Given the description of an element on the screen output the (x, y) to click on. 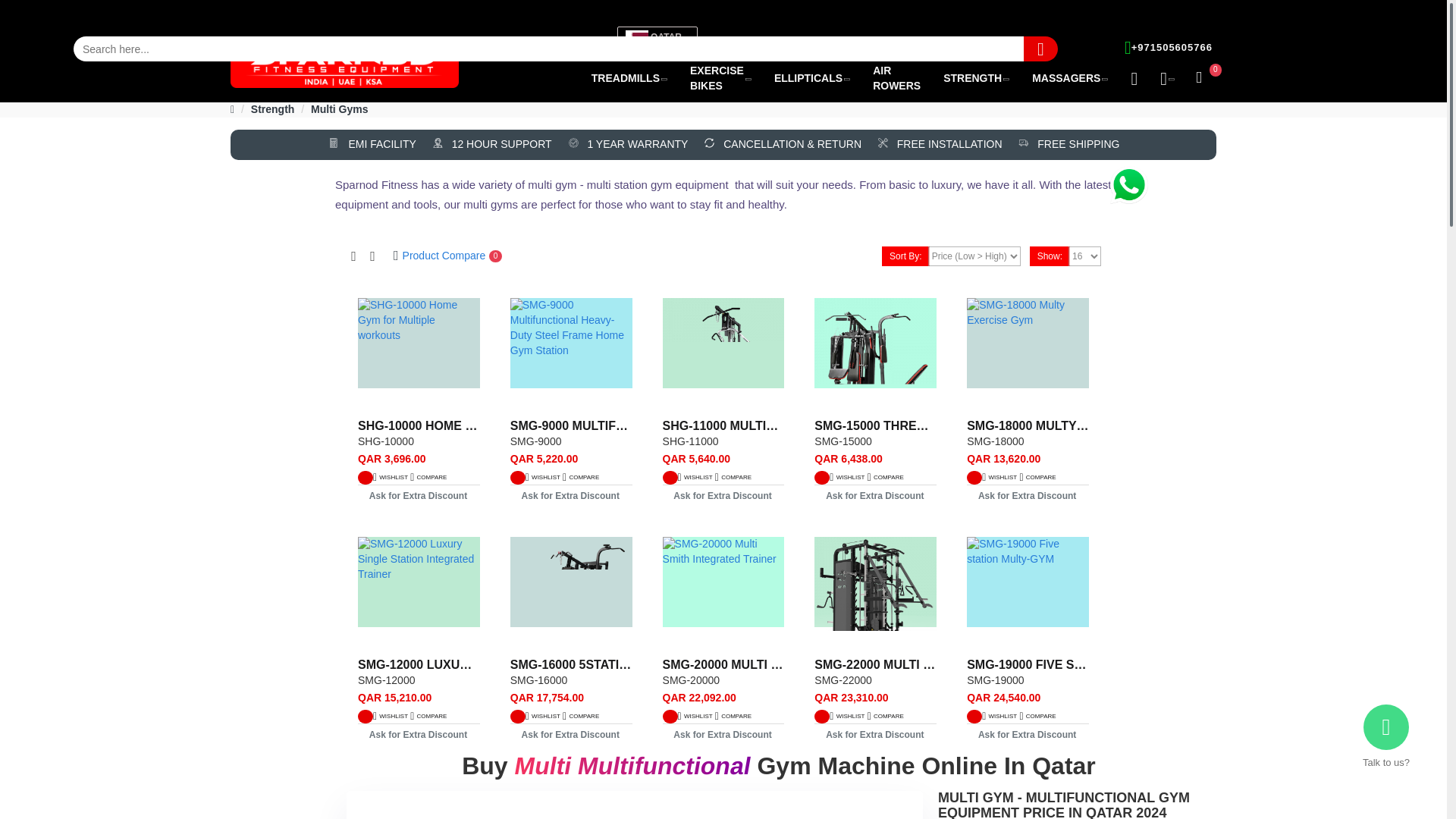
AIR ROWERS (896, 78)
List (371, 255)
TREADMILLS (628, 78)
Sparnod Qatar (344, 63)
EXERCISE BIKES (720, 78)
SHG-11000 Multifunctional Luxury Home Gym (723, 354)
Grid (352, 255)
SMG-15000 Three Station Multi-Gym (874, 354)
STRENGTH (975, 78)
ELLIPTICALS (811, 78)
SHG-10000 Home Gym for Multiple workouts (419, 354)
